Given the description of an element on the screen output the (x, y) to click on. 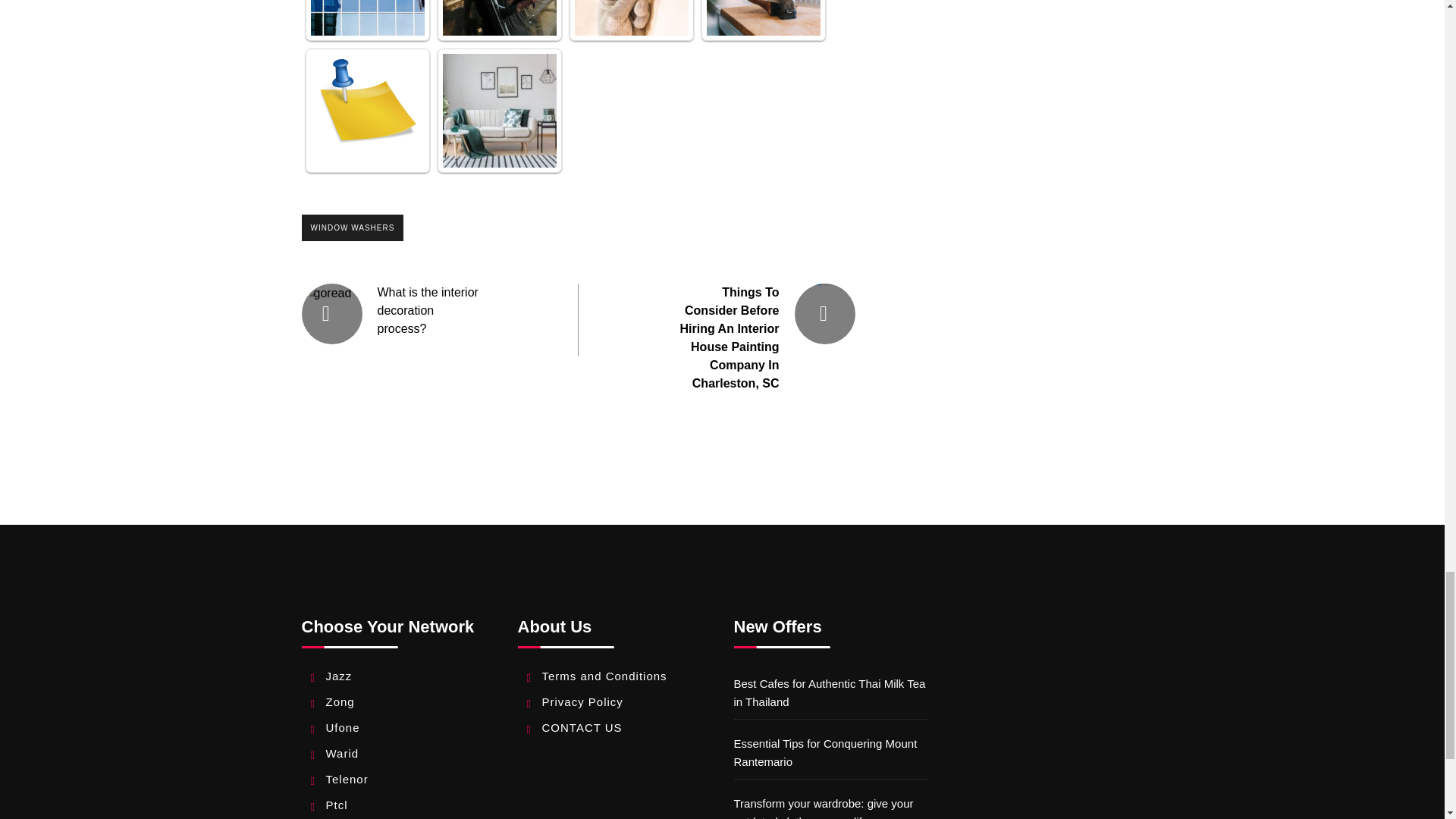
How to Find Electrician Services in Amsterdam (631, 18)
8 Benefits of Using a Professional Window Tinting Service (368, 110)
Tips to Find Affordable Apartments (499, 110)
WINDOW WASHERS (352, 227)
How to Find Professional Window Cleaners Near Me in Toronto (368, 18)
Tip to Find Knife Sharpening Services (763, 18)
9 Top Toronto Window Cleaning Services (499, 18)
What is the interior decoration process? (428, 309)
